Given the description of an element on the screen output the (x, y) to click on. 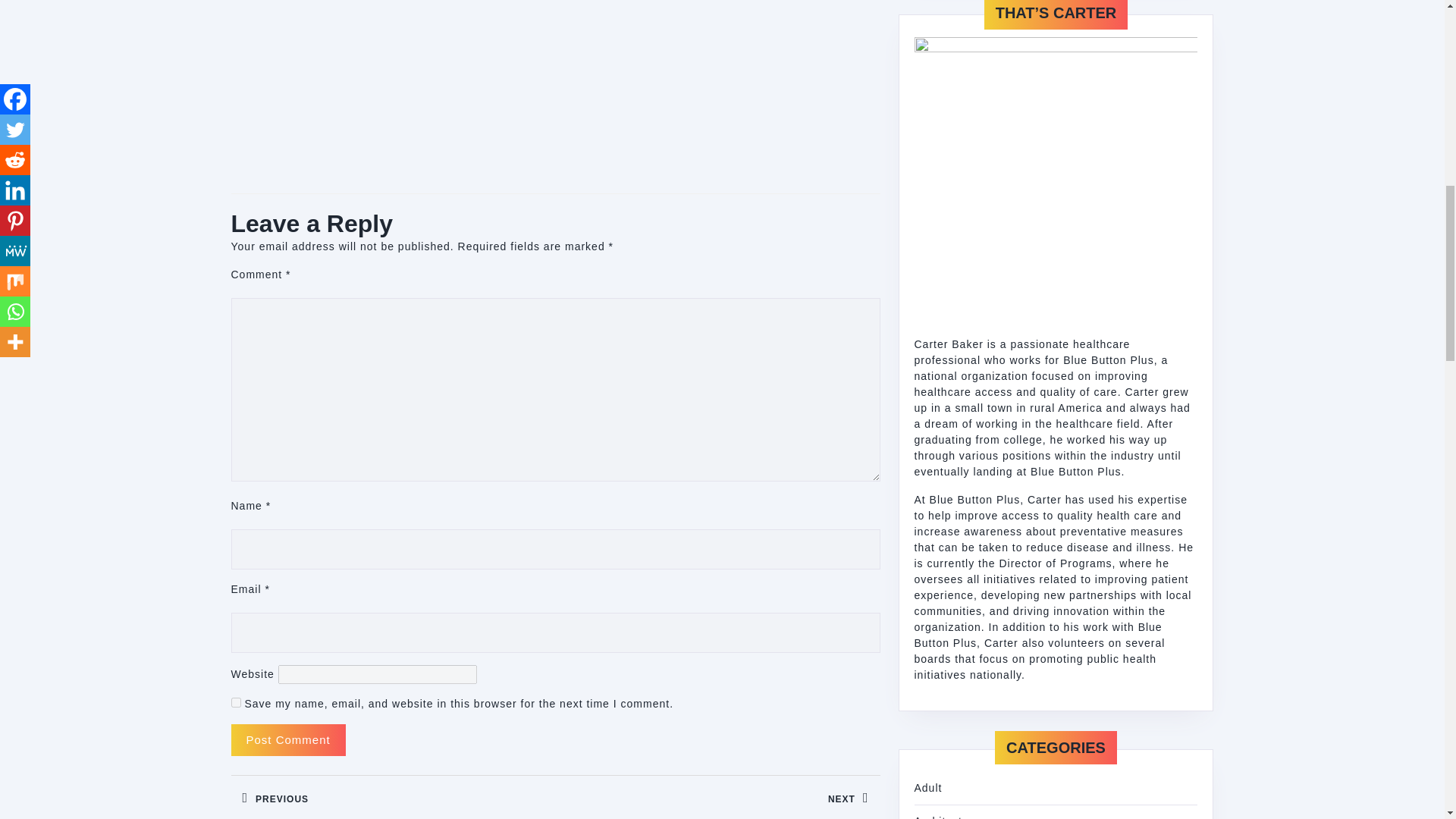
Post Comment (287, 739)
yes (392, 796)
Post Comment (235, 702)
